Given the description of an element on the screen output the (x, y) to click on. 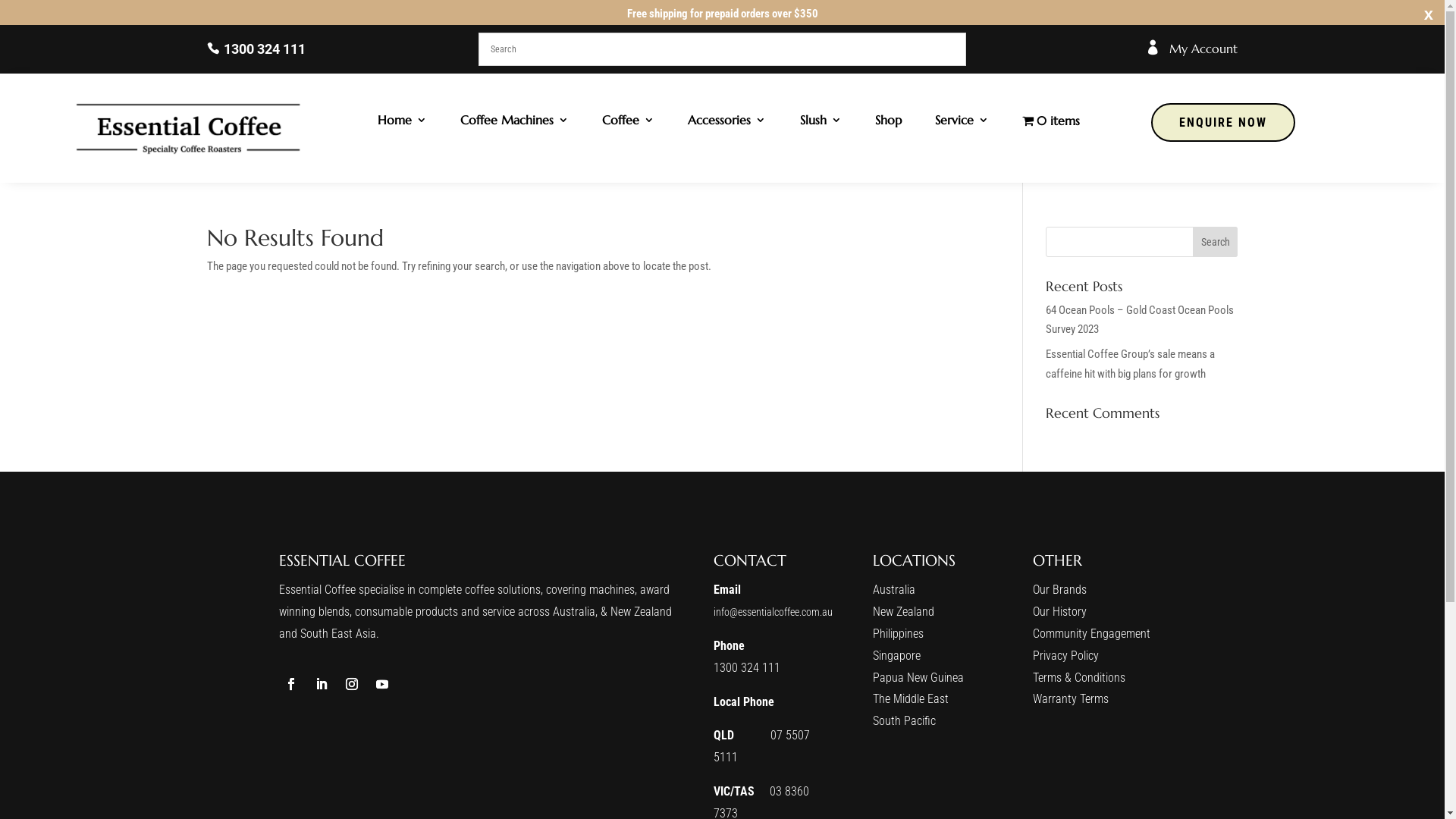
Service Element type: text (961, 122)
Coffee Element type: text (628, 122)
Community Engagement Element type: text (1091, 633)
Follow on Facebook Element type: hover (291, 683)
Website Logo Element type: hover (189, 127)
Home Element type: text (401, 122)
Follow on Youtube Element type: hover (382, 683)
1300 324 111 Element type: text (255, 48)
1300 324 111 Element type: text (746, 667)
Search Element type: text (1215, 241)
Slush Element type: text (820, 122)
Follow on Instagram Element type: hover (351, 683)
Warranty Terms Element type: text (1070, 698)
Follow on LinkedIn Element type: hover (321, 683)
Coffee Machines Element type: text (514, 122)
Shop Element type: text (888, 122)
info@essentialcoffee.com.au Element type: text (772, 611)
0 items Element type: text (1050, 122)
Our Brands Element type: text (1059, 589)
Accessories Element type: text (726, 122)
Our History Element type: text (1059, 611)
Terms & Conditions Element type: text (1078, 677)
ENQUIRE NOW Element type: text (1223, 122)
Privacy Policy Element type: text (1065, 655)
